Given the description of an element on the screen output the (x, y) to click on. 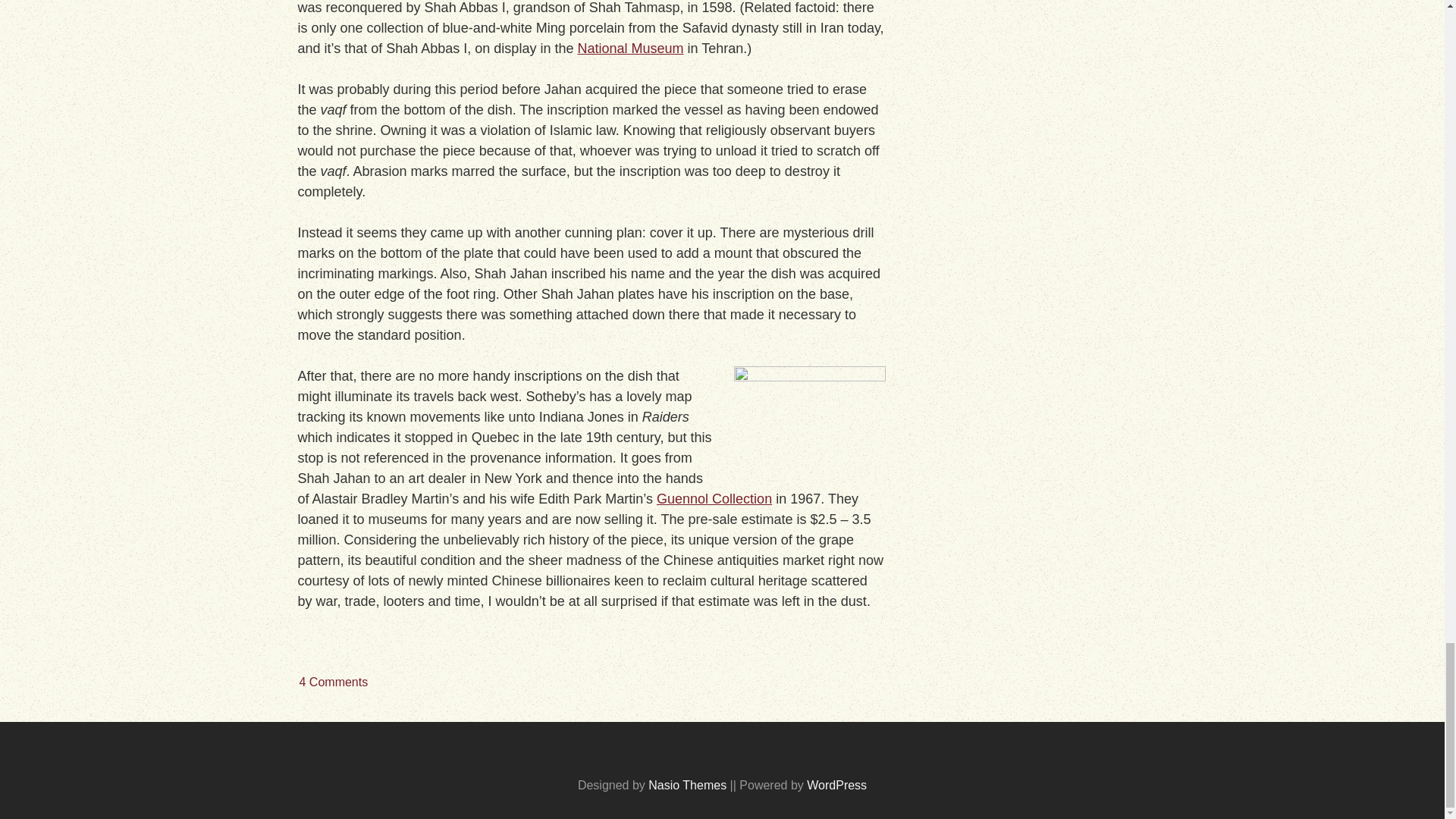
National Museum (629, 48)
Guennol Collection (713, 498)
